Given the description of an element on the screen output the (x, y) to click on. 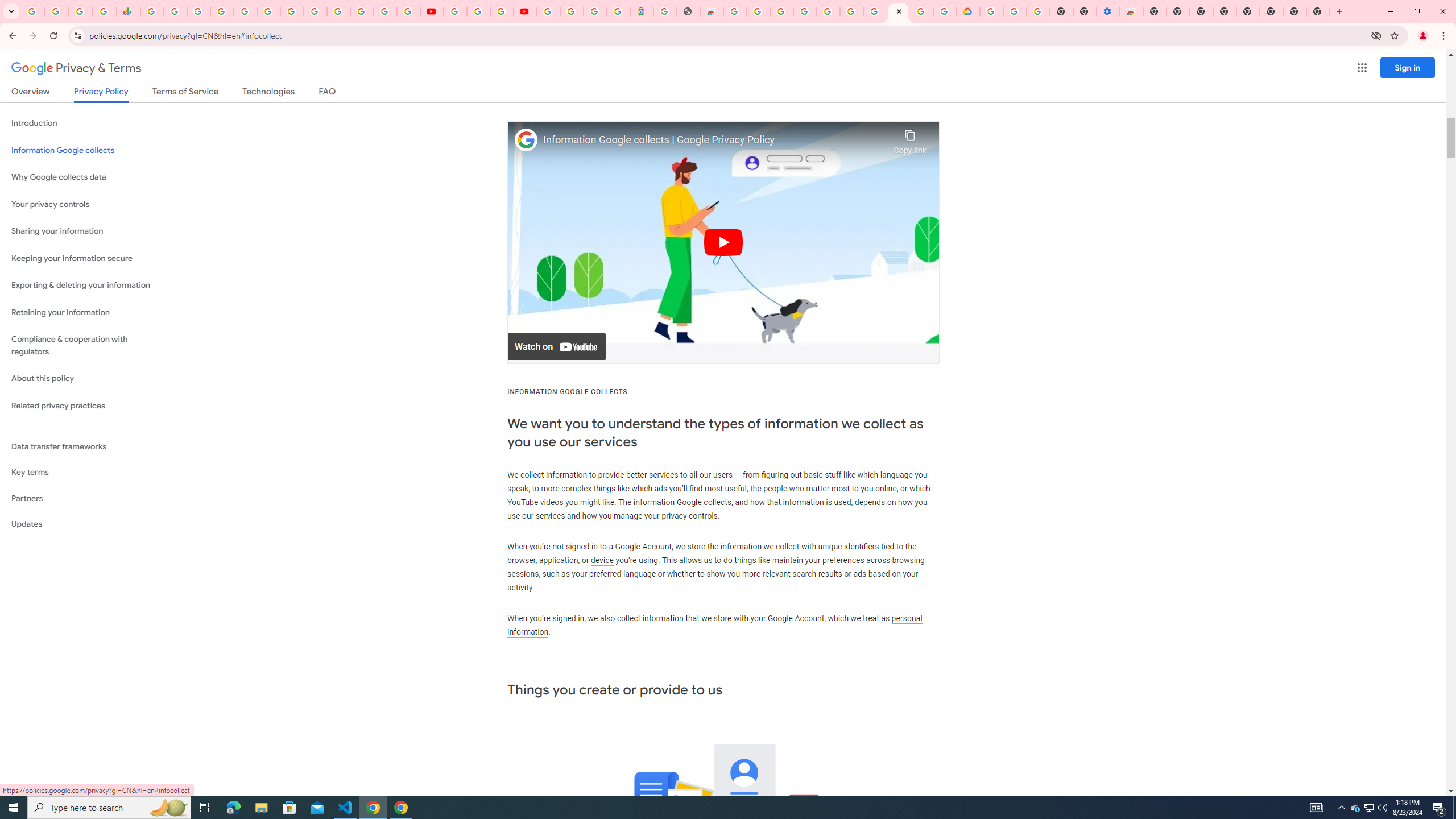
Sign in - Google Accounts (338, 11)
Create your Google Account (757, 11)
Privacy Checkup (408, 11)
YouTube (431, 11)
Information Google collects | Google Privacy Policy (715, 140)
Chrome Web Store - Accessibility extensions (1131, 11)
Keeping your information secure (86, 258)
